Given the description of an element on the screen output the (x, y) to click on. 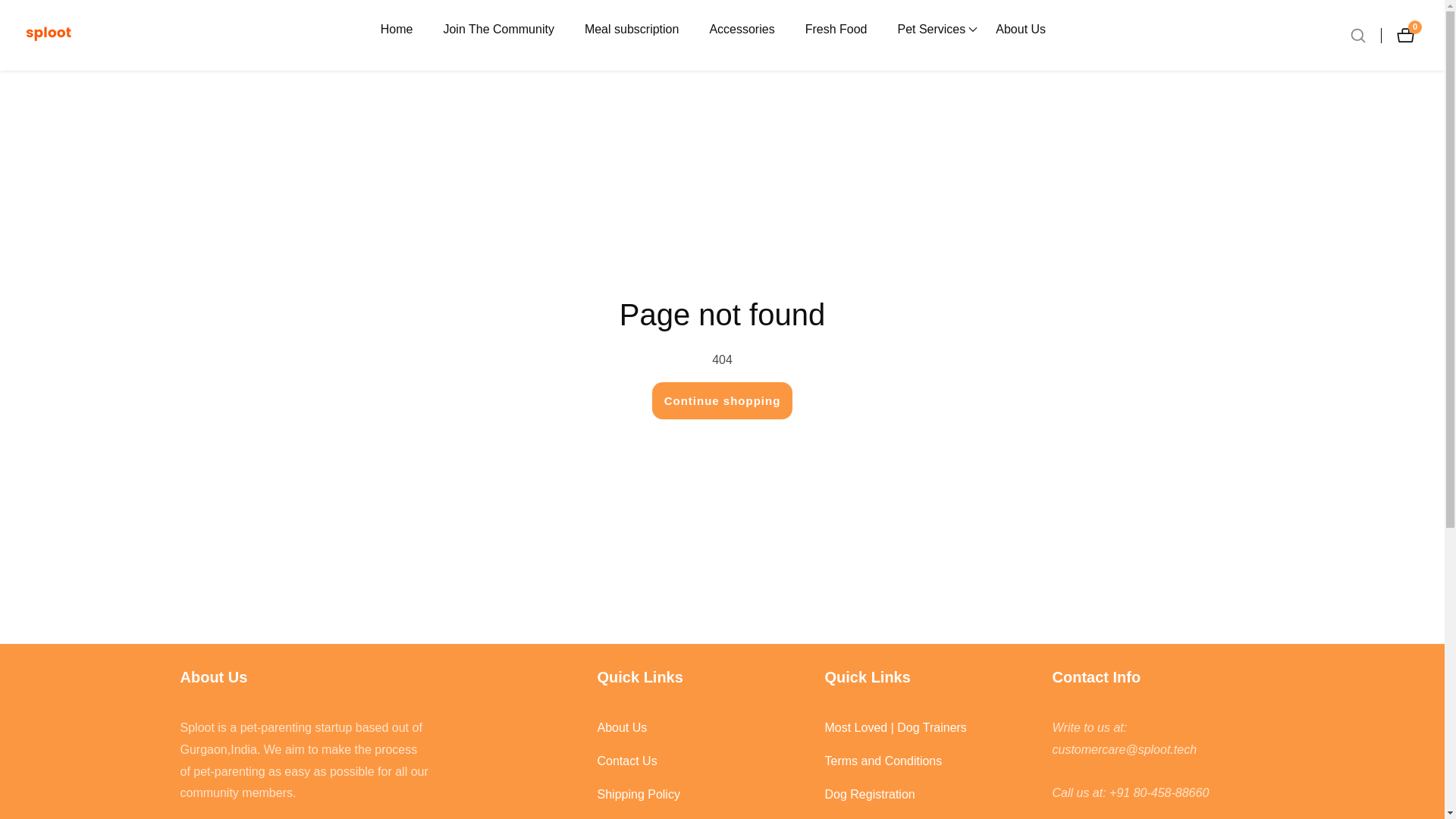
Skip to content (11, 7)
Meal subscription (632, 29)
Accessories (741, 29)
Continue shopping (722, 400)
About Us (702, 728)
Join The Community (1409, 34)
Fresh Food (497, 29)
